Given the description of an element on the screen output the (x, y) to click on. 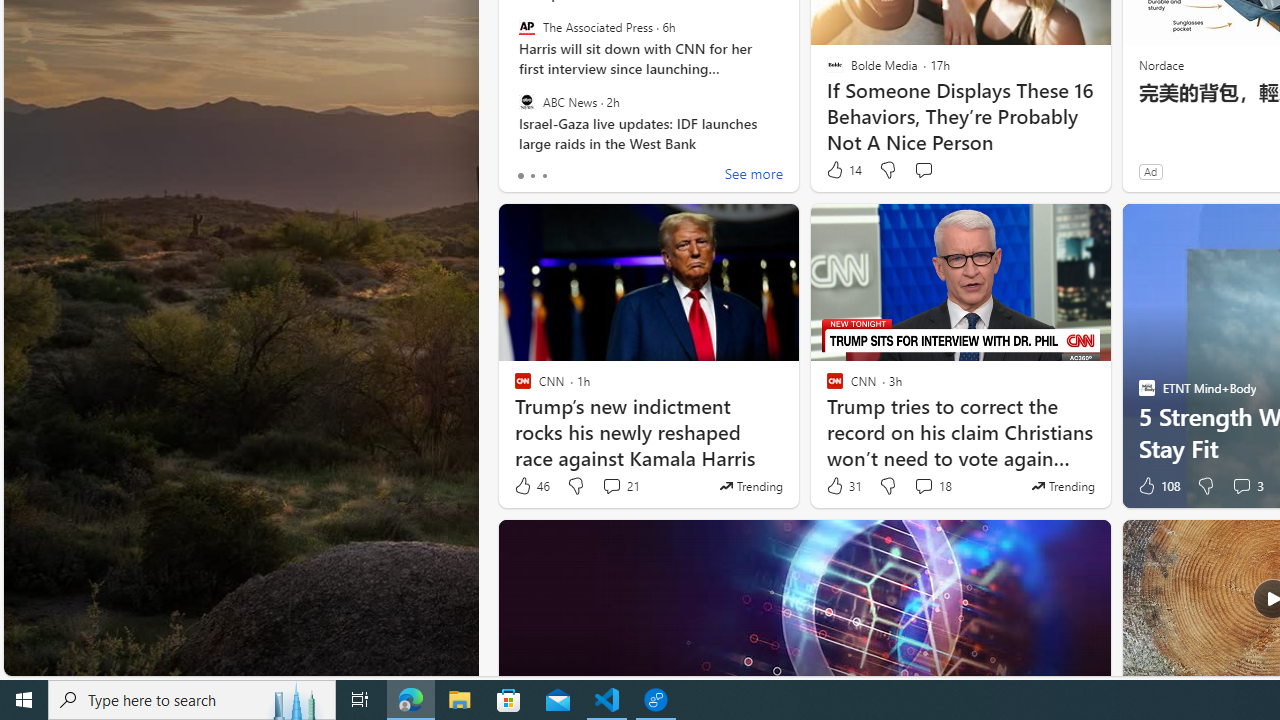
Start the conversation (923, 169)
31 Like (843, 485)
tab-0 (520, 175)
Dislike (1204, 485)
tab-2 (543, 175)
View comments 18 Comment (932, 485)
View comments 3 Comment (1247, 485)
View comments 21 Comment (611, 485)
Ad (1150, 171)
108 Like (1157, 485)
